Given the description of an element on the screen output the (x, y) to click on. 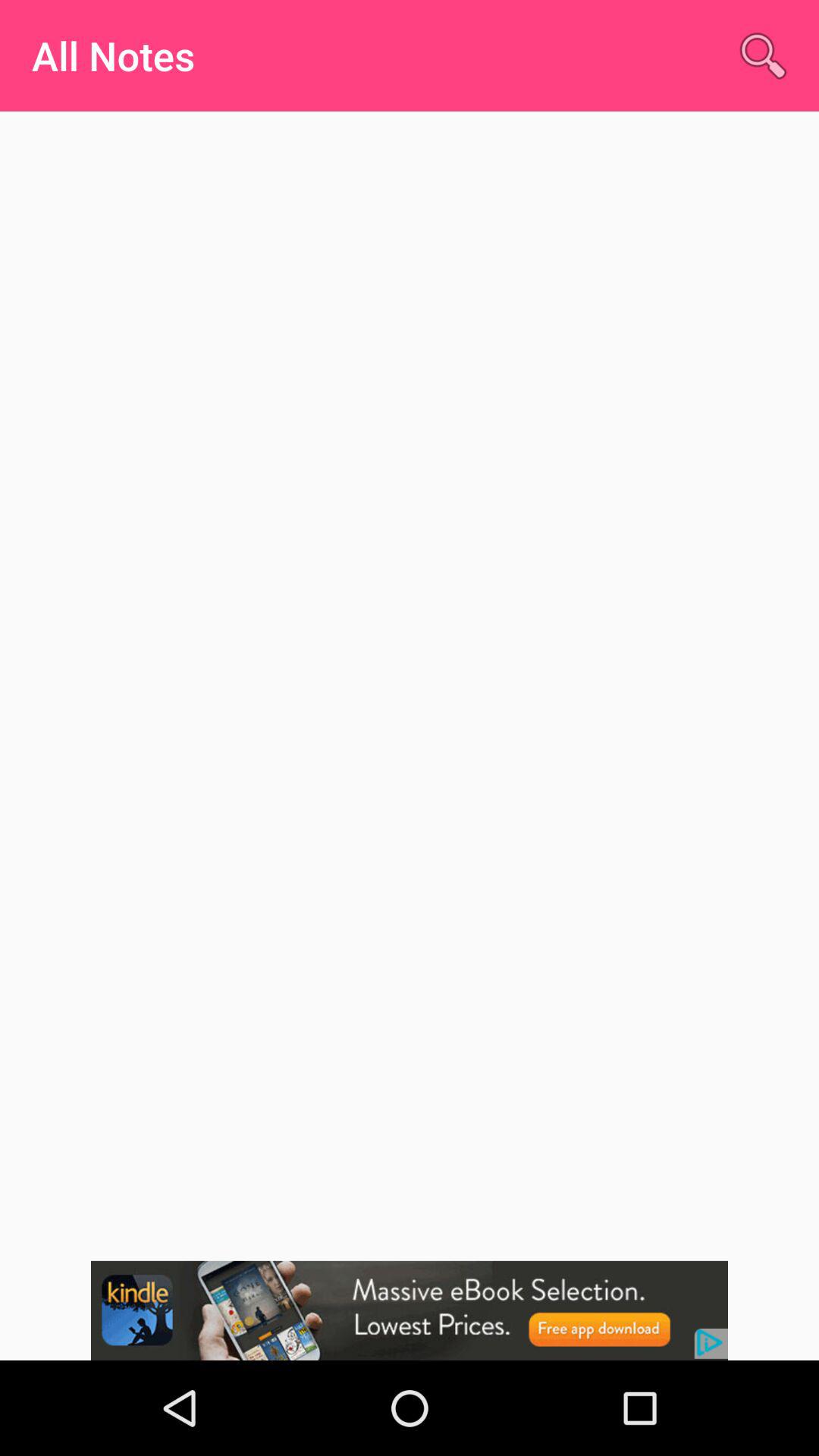
advertisement area (409, 1310)
